Given the description of an element on the screen output the (x, y) to click on. 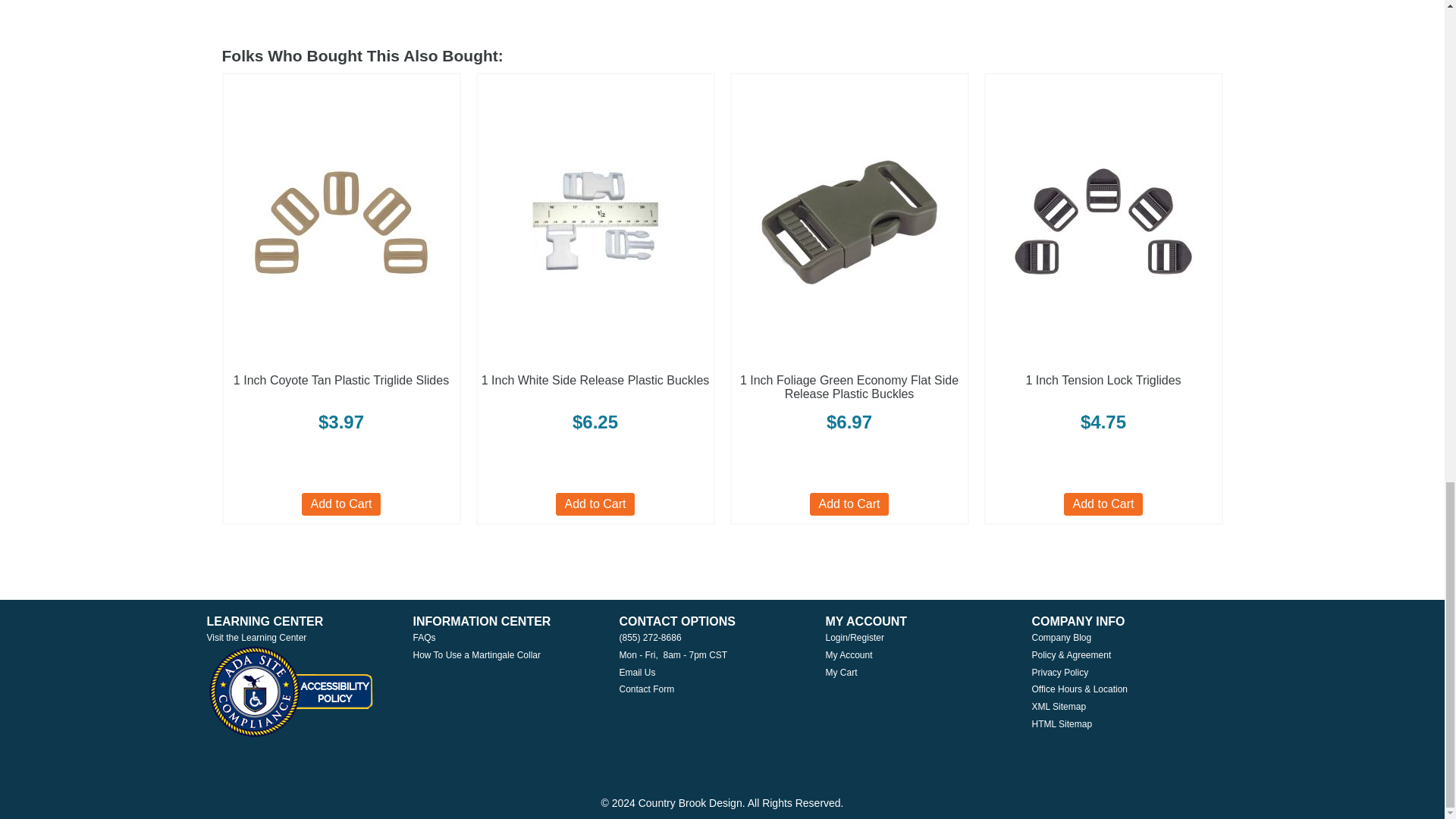
Add to Cart (341, 504)
1 Inch Coyote Tan Plastic Triglide Slides (340, 379)
